Given the description of an element on the screen output the (x, y) to click on. 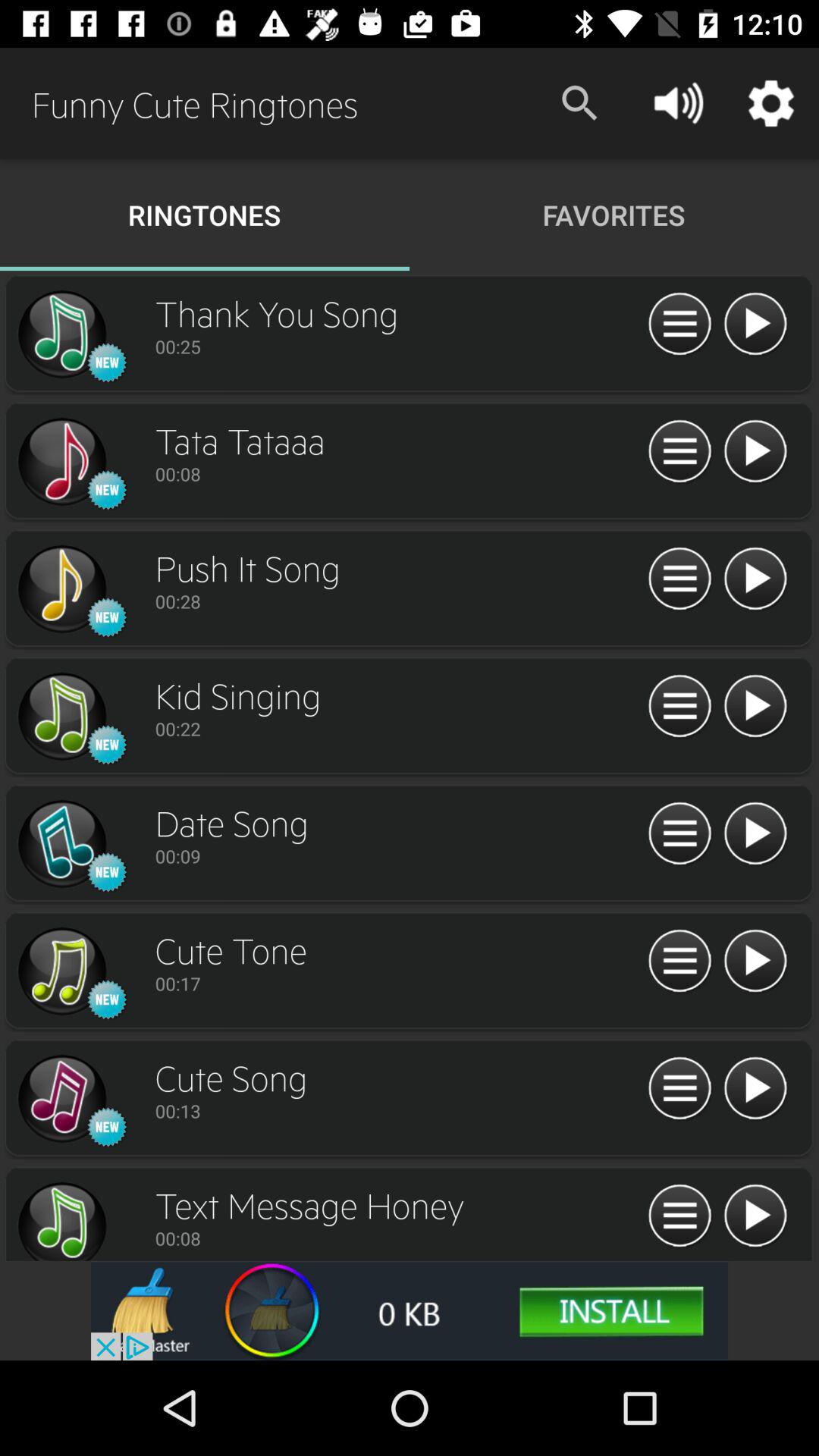
play ringtone (755, 451)
